Given the description of an element on the screen output the (x, y) to click on. 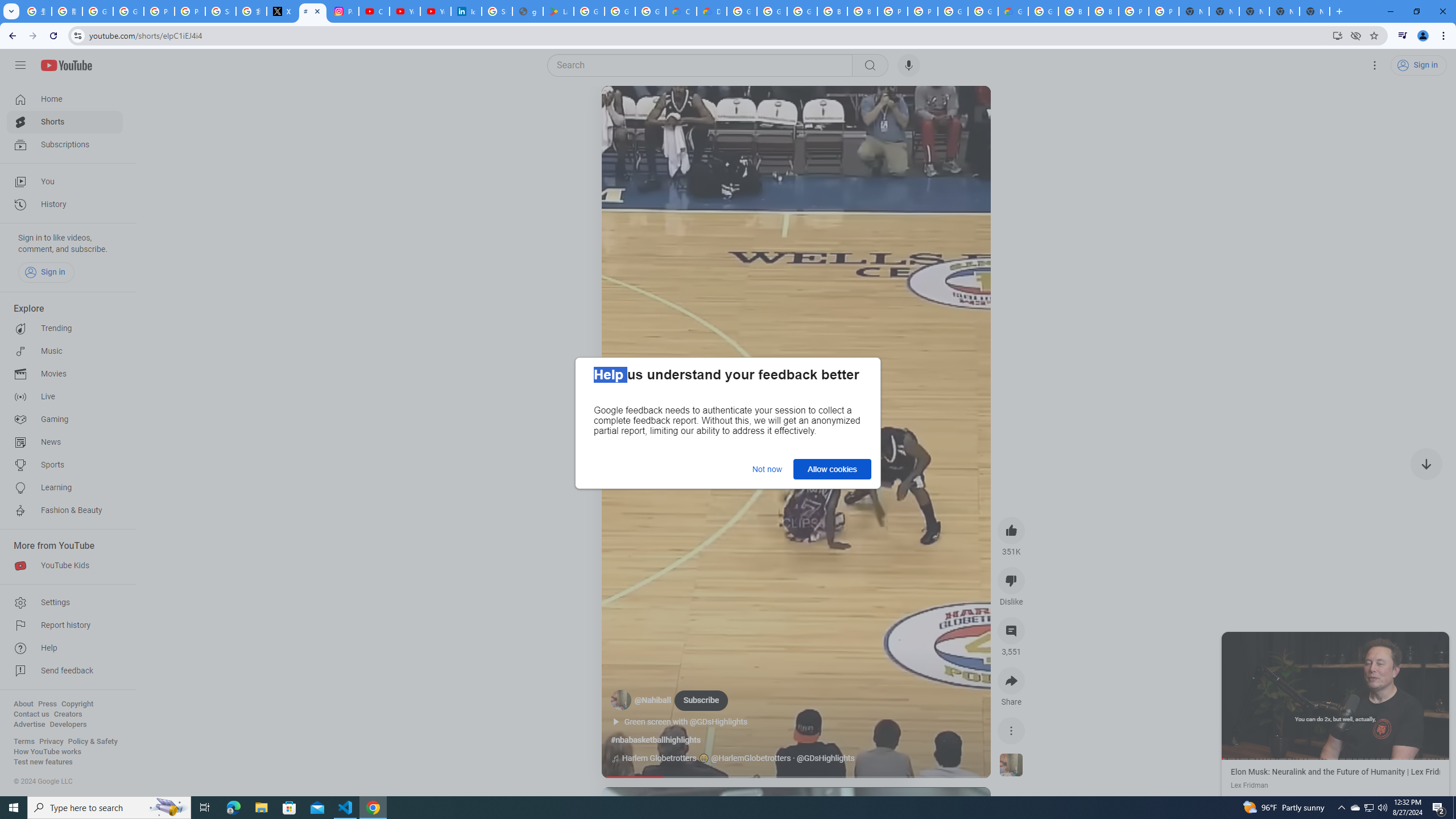
Press (46, 703)
Creators (67, 714)
Movies (64, 373)
Report history (64, 625)
Send feedback (64, 671)
google_privacy_policy_en.pdf (527, 11)
Browse Chrome as a guest - Computer - Google Chrome Help (1072, 11)
Not now (766, 468)
Fashion & Beauty (64, 510)
Last Shelter: Survival - Apps on Google Play (558, 11)
